Given the description of an element on the screen output the (x, y) to click on. 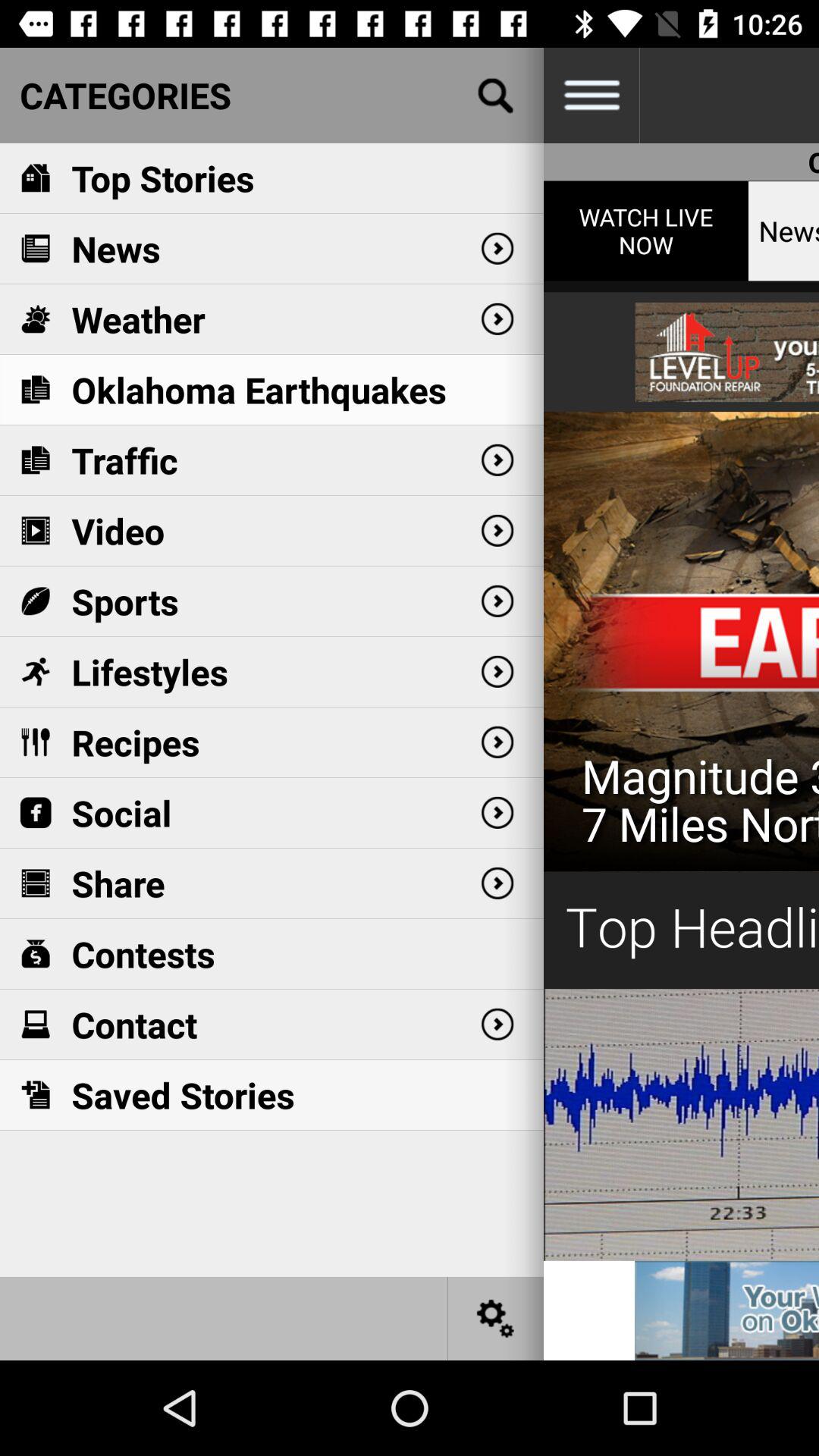
open advertisement (726, 1310)
